Given the description of an element on the screen output the (x, y) to click on. 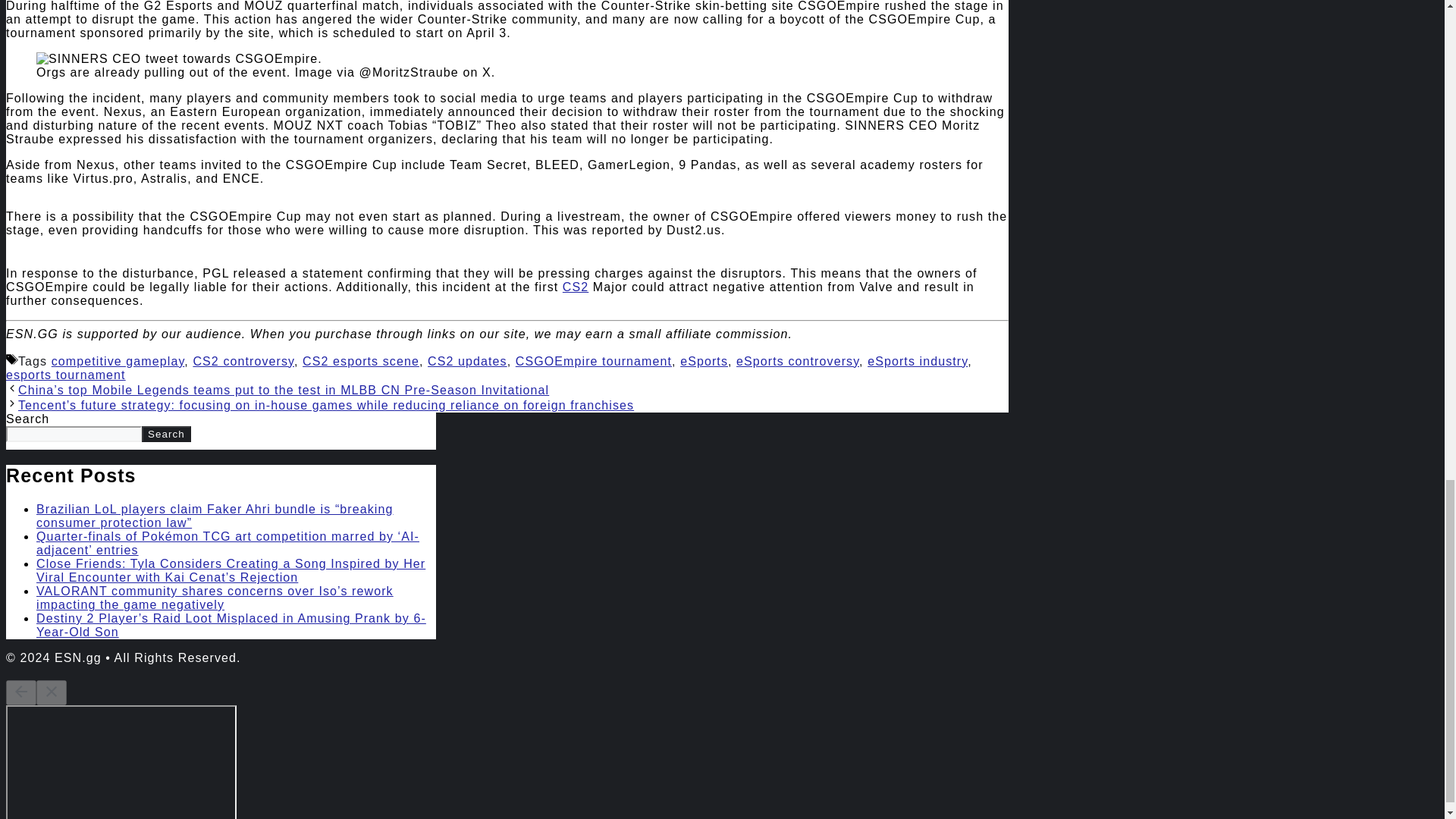
CS2 (575, 286)
